Given the description of an element on the screen output the (x, y) to click on. 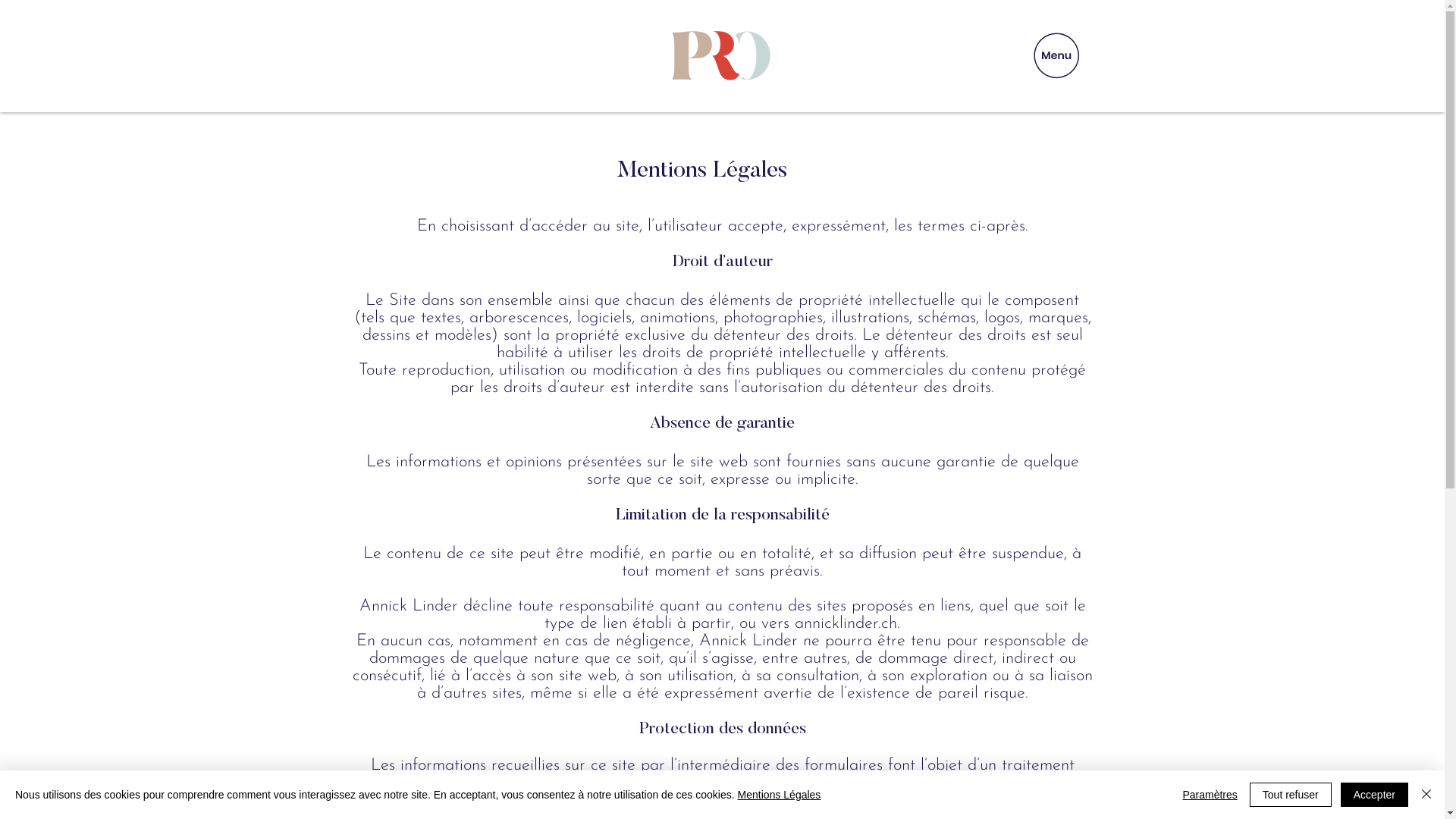
Accepter Element type: text (1374, 794)
Tout refuser Element type: text (1290, 794)
